Given the description of an element on the screen output the (x, y) to click on. 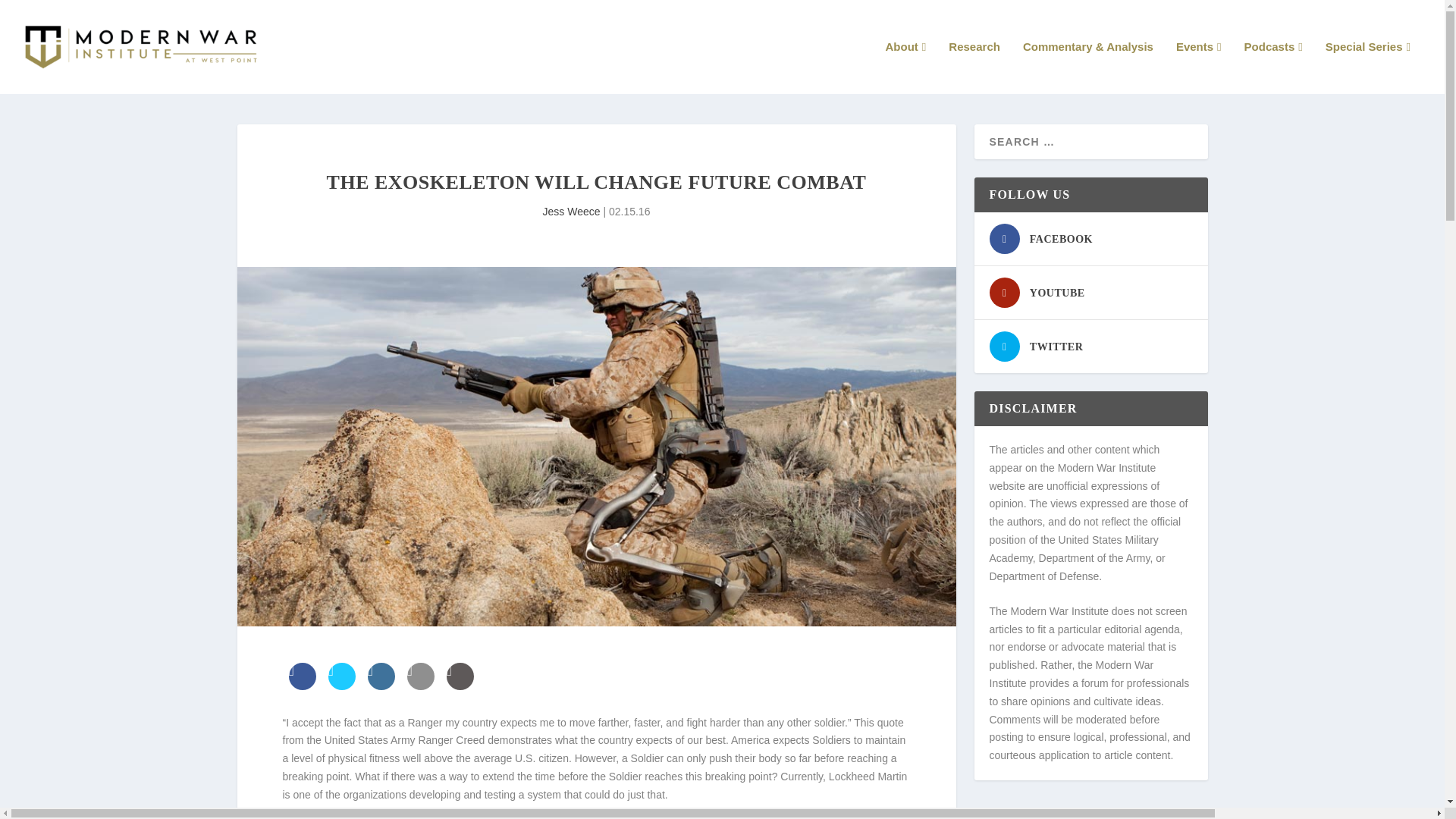
Jess Weece (571, 211)
Posts by Jess Weece (571, 211)
Podcasts (1273, 67)
Research (974, 67)
Special Series (1367, 67)
